Given the description of an element on the screen output the (x, y) to click on. 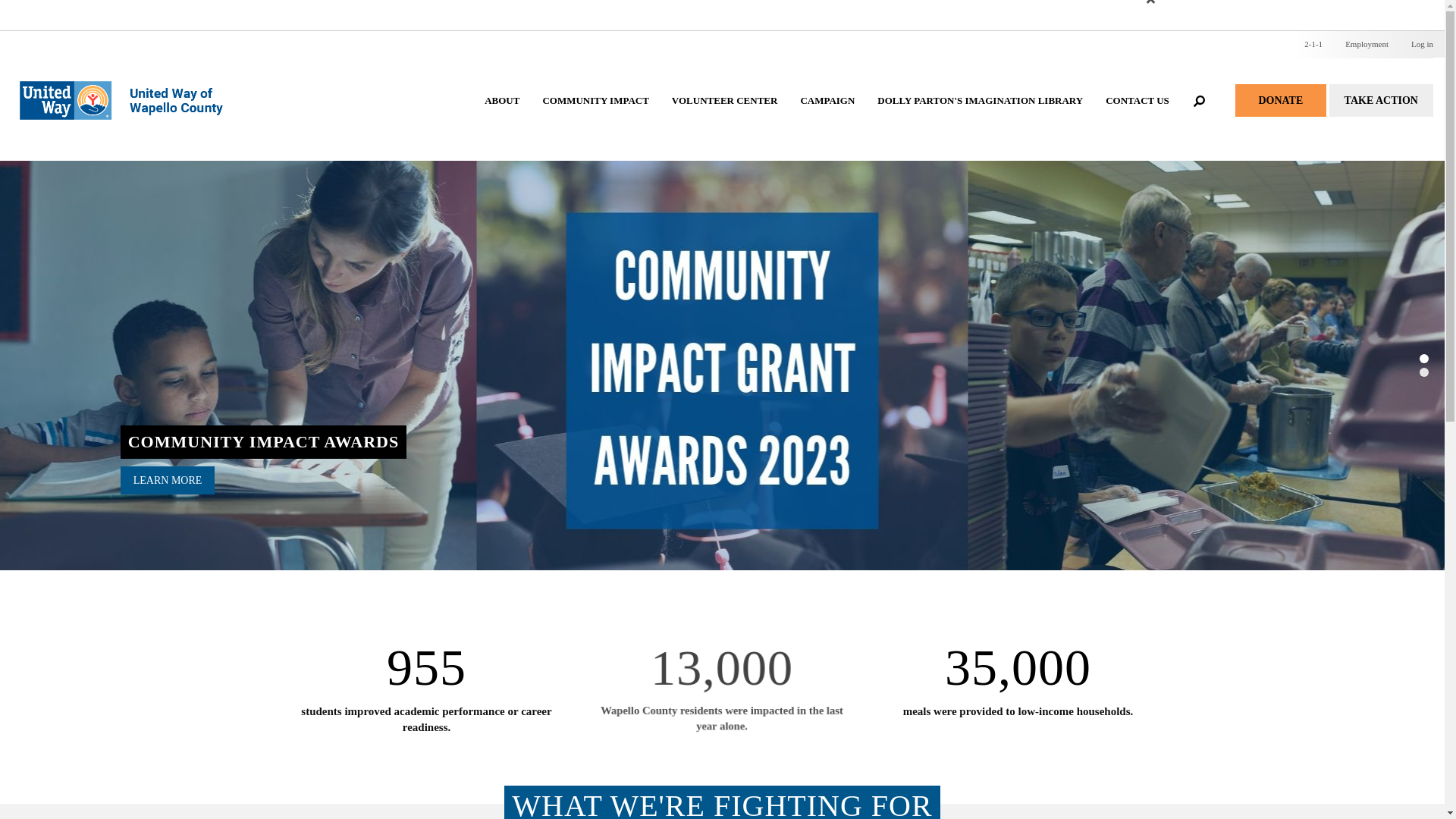
Employment (1366, 44)
TAKE ACTION (1380, 100)
DOLLY PARTON'S IMAGINATION LIBRARY (980, 115)
DONATE (1280, 100)
VOLUNTEER CENTER (725, 115)
COMMUNITY IMPACT (595, 115)
2-1-1 (1312, 44)
ABOUT (502, 115)
CAMPAIGN (827, 115)
Home (128, 84)
CONTACT US (1137, 115)
